Given the description of an element on the screen output the (x, y) to click on. 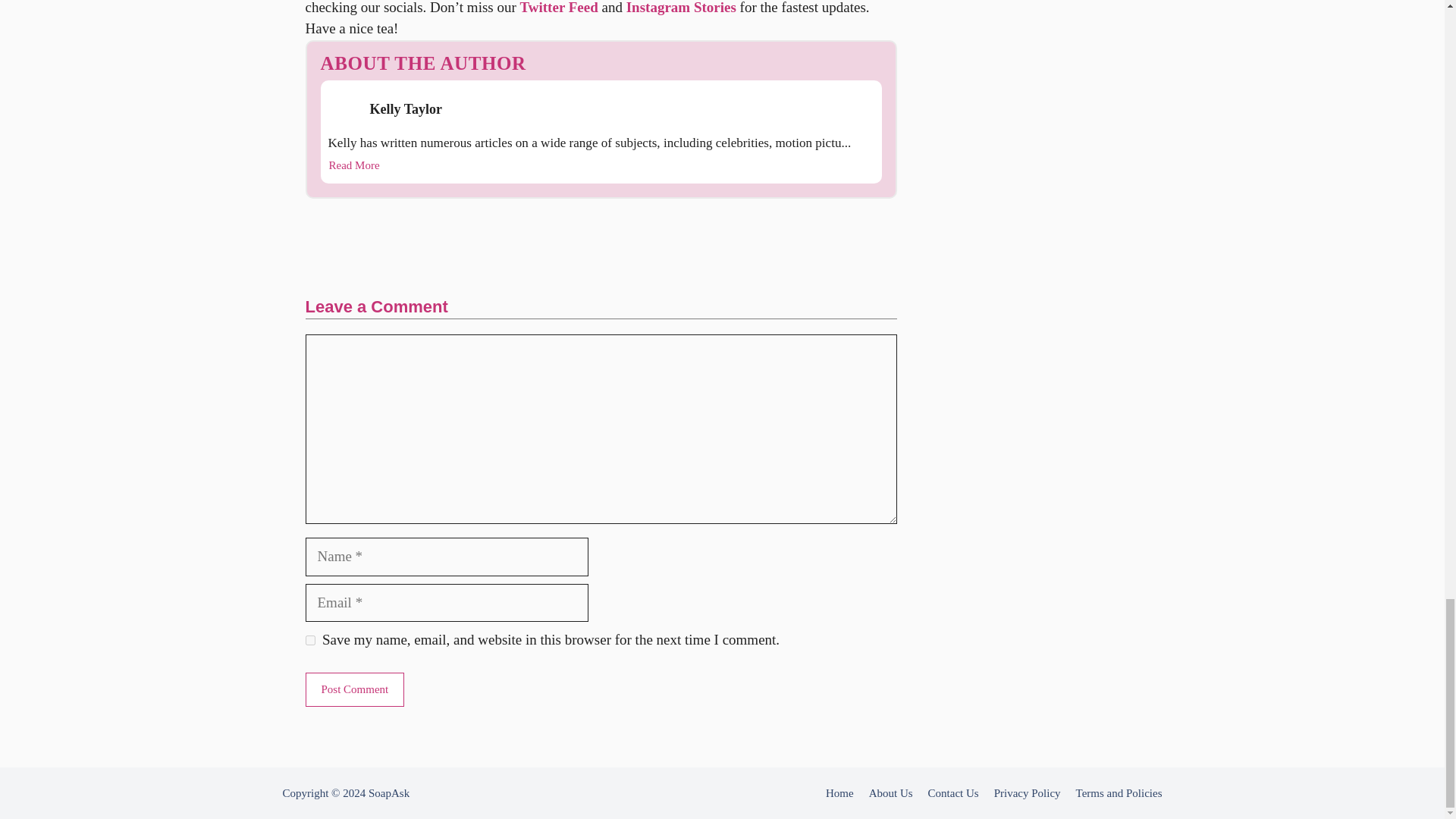
yes (309, 640)
Post Comment (354, 689)
